Given the description of an element on the screen output the (x, y) to click on. 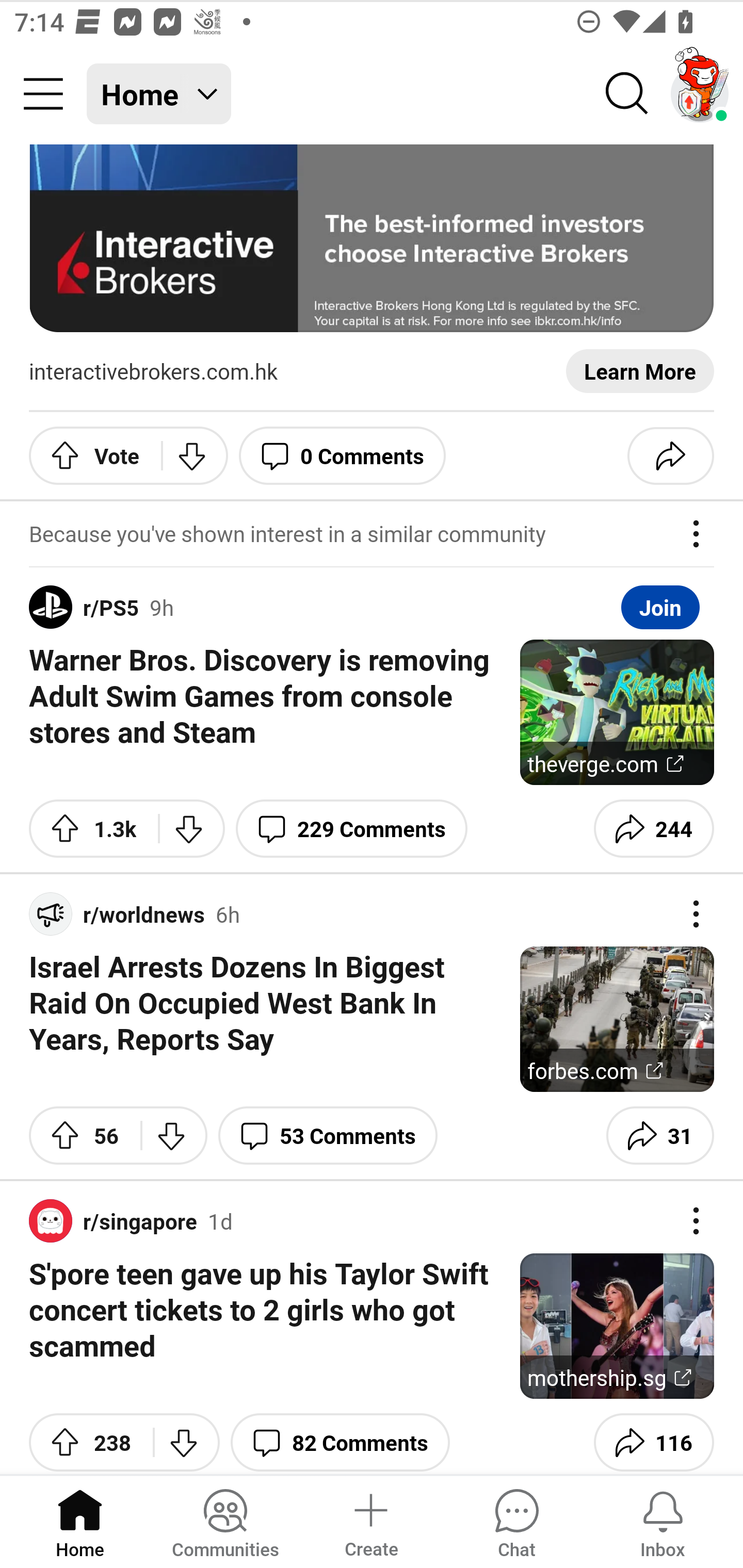
Community menu (43, 93)
Home Home feed (158, 93)
Search (626, 93)
TestAppium002 account (699, 93)
Home (80, 1520)
Communities (225, 1520)
Create a post Create (370, 1520)
Chat (516, 1520)
Inbox (662, 1520)
